Given the description of an element on the screen output the (x, y) to click on. 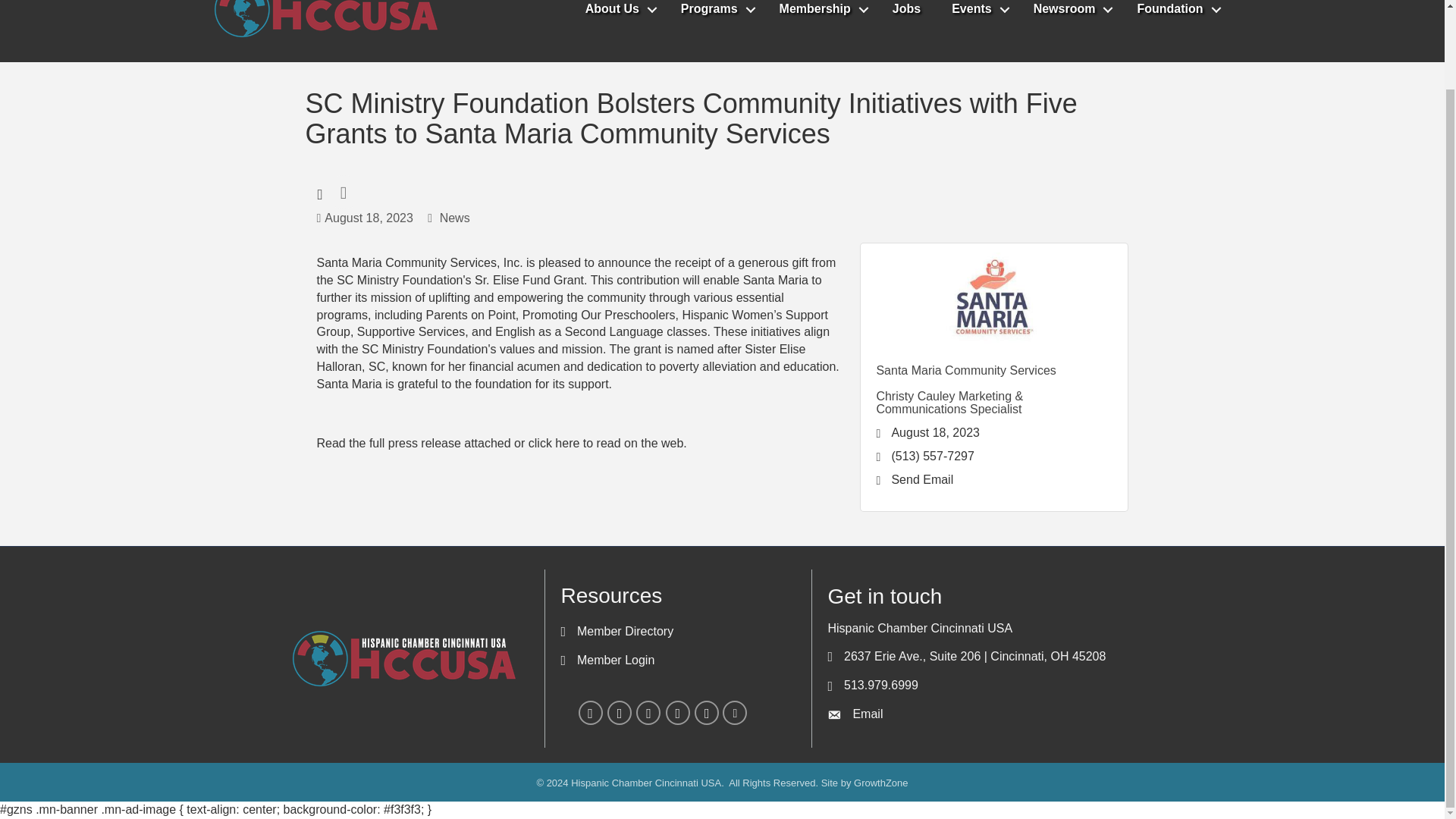
NEW HCCUSA LOGO-1-01 (402, 658)
NEW HCCUSA LOGO-1-01 (325, 23)
About Us (617, 12)
Jobs (906, 12)
Newsroom (1069, 12)
Events (976, 12)
Programs (713, 12)
Membership (820, 12)
